Given the description of an element on the screen output the (x, y) to click on. 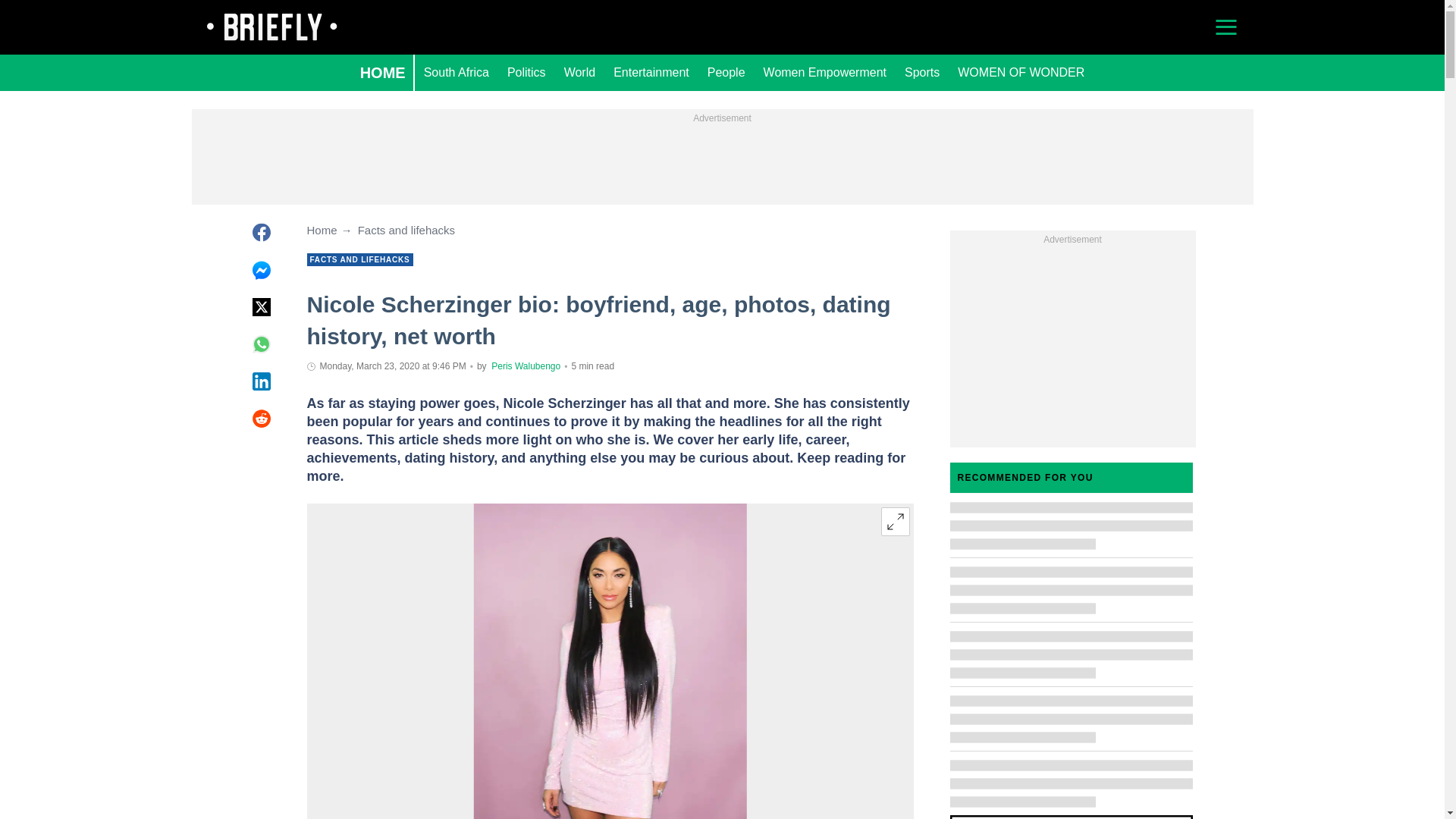
Politics (525, 72)
South Africa (455, 72)
Author page (526, 366)
Women Empowerment (824, 72)
WOMEN OF WONDER (1021, 72)
Entertainment (651, 72)
Sports (922, 72)
Expand image (895, 521)
People (726, 72)
HOME (382, 72)
